Given the description of an element on the screen output the (x, y) to click on. 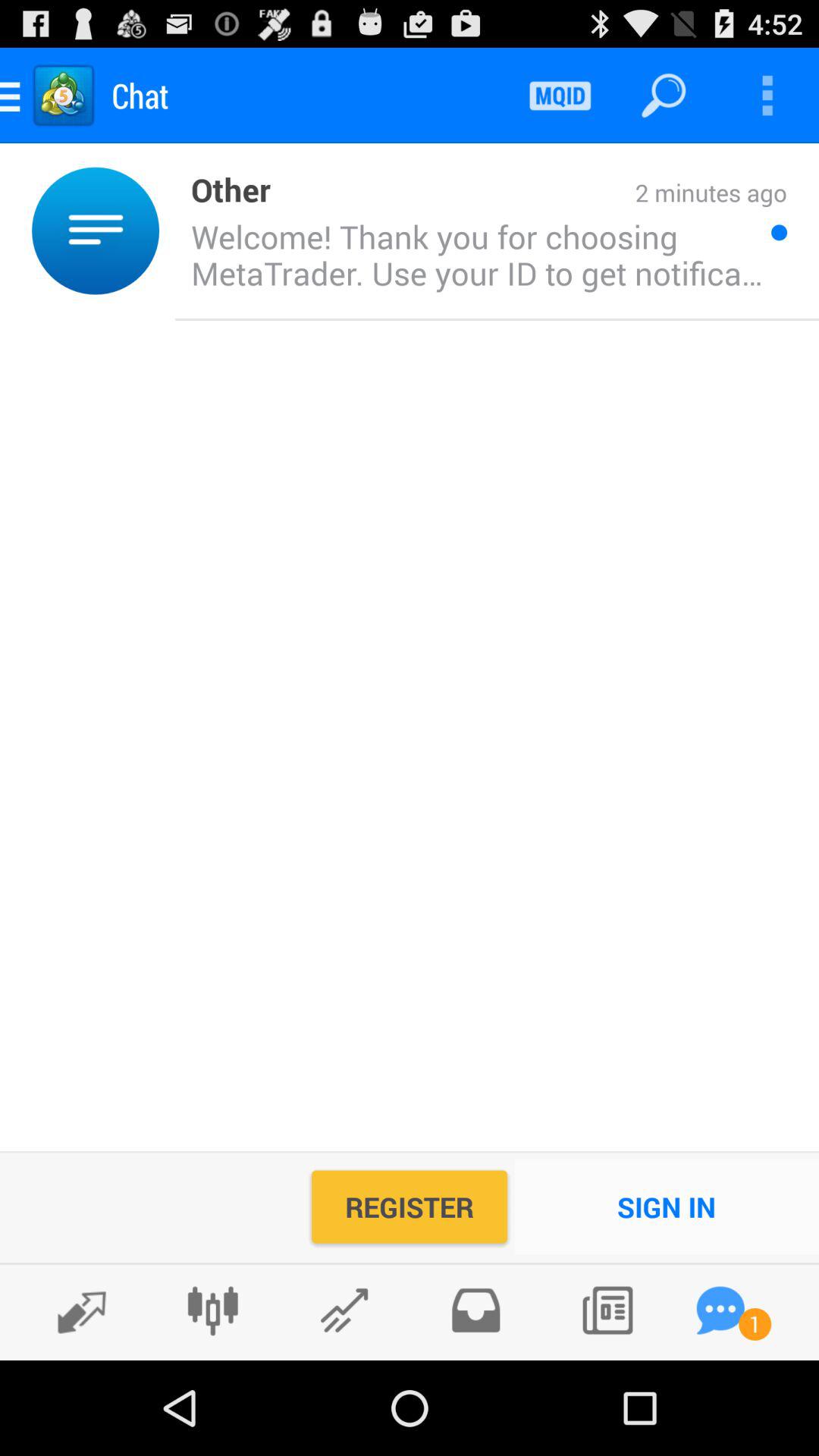
go to inbox (475, 1310)
